Given the description of an element on the screen output the (x, y) to click on. 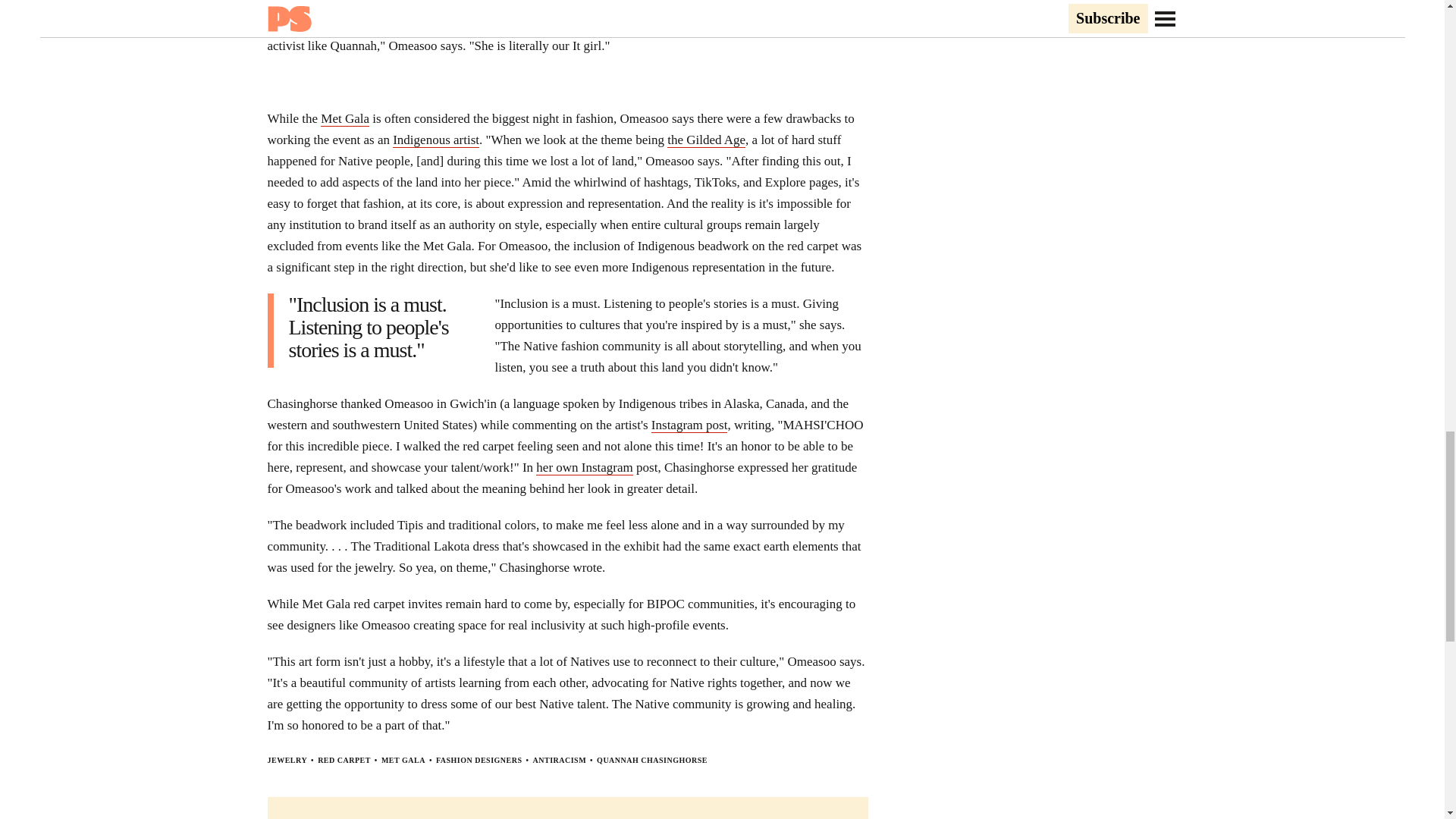
FASHION DESIGNERS (478, 759)
QUANNAH CHASINGHORSE (651, 759)
her own Instagram (583, 467)
RED CARPET (344, 759)
Met Gala (344, 118)
JEWELRY (286, 759)
Indigenous artist (436, 140)
MET GALA (403, 759)
ANTIRACISM (559, 759)
Instagram post (689, 425)
